Given the description of an element on the screen output the (x, y) to click on. 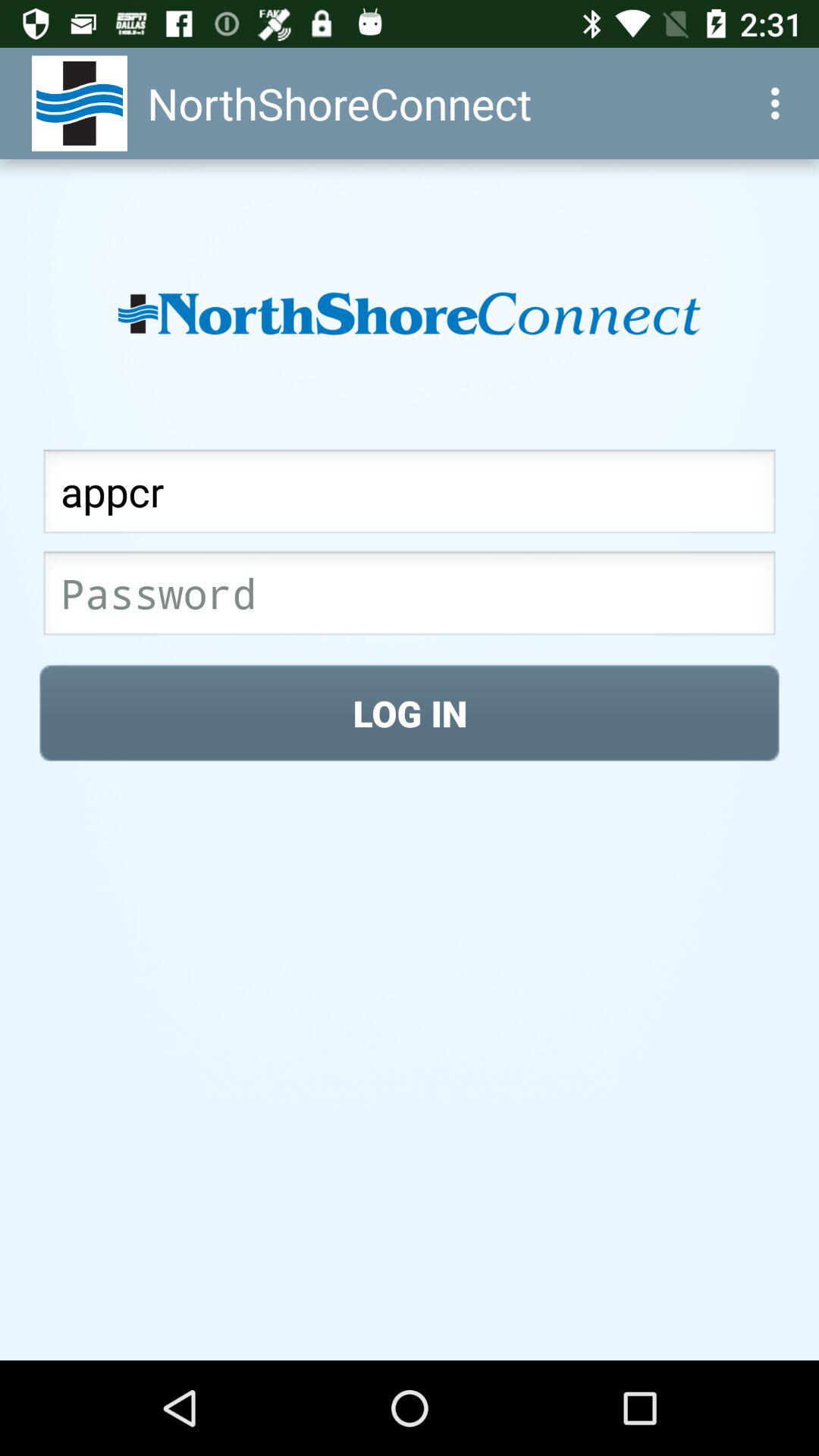
choose icon at the top right corner (779, 103)
